Given the description of an element on the screen output the (x, y) to click on. 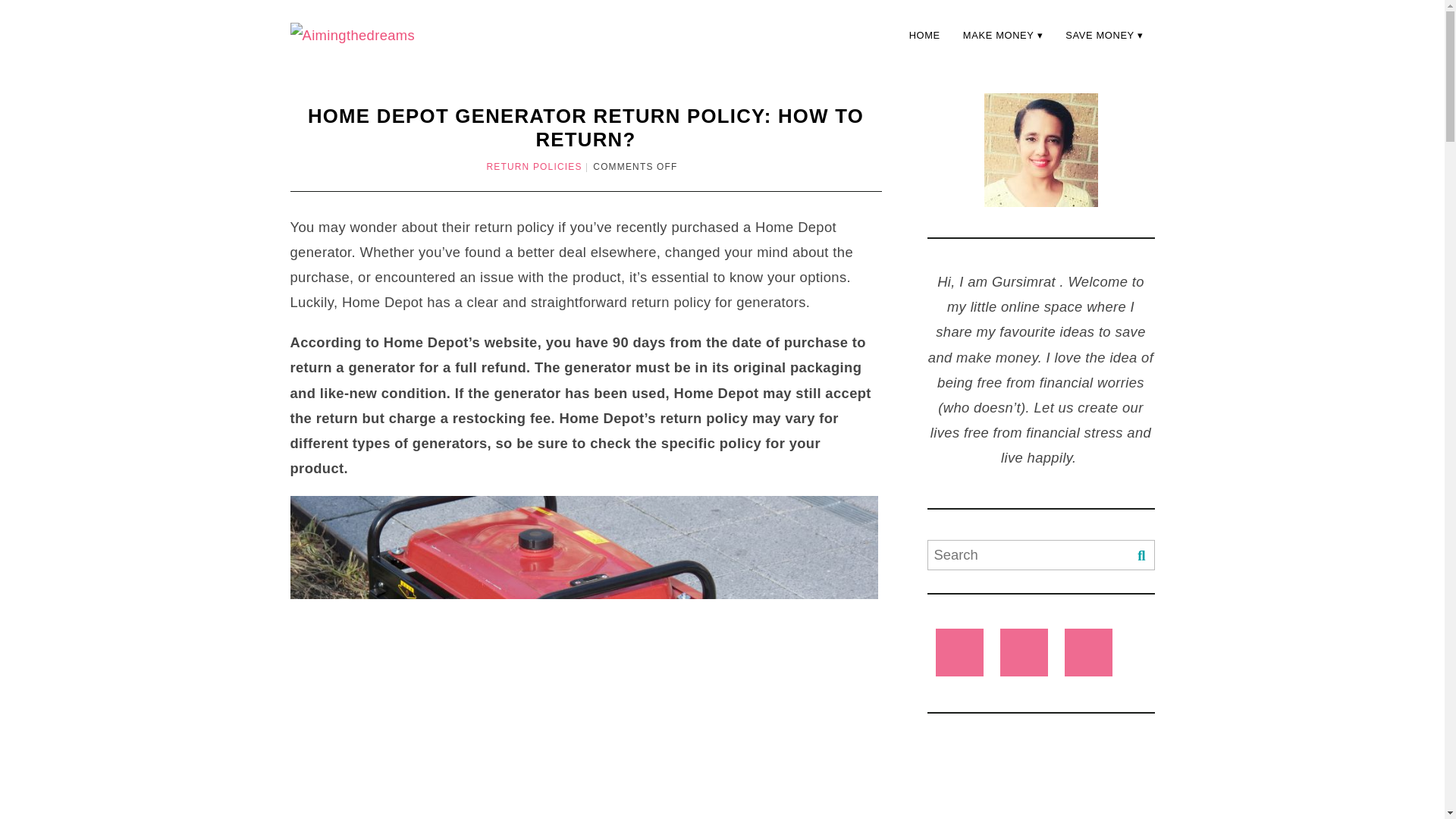
HOME (925, 34)
Home Depot Generator Return Policy: How to return? (585, 127)
HOME DEPOT GENERATOR RETURN POLICY: HOW TO RETURN? (585, 127)
Aimingthedreams (351, 34)
RETURN POLICIES (533, 166)
MAKE MONEY (1003, 34)
SAVE MONEY (1104, 34)
